Given the description of an element on the screen output the (x, y) to click on. 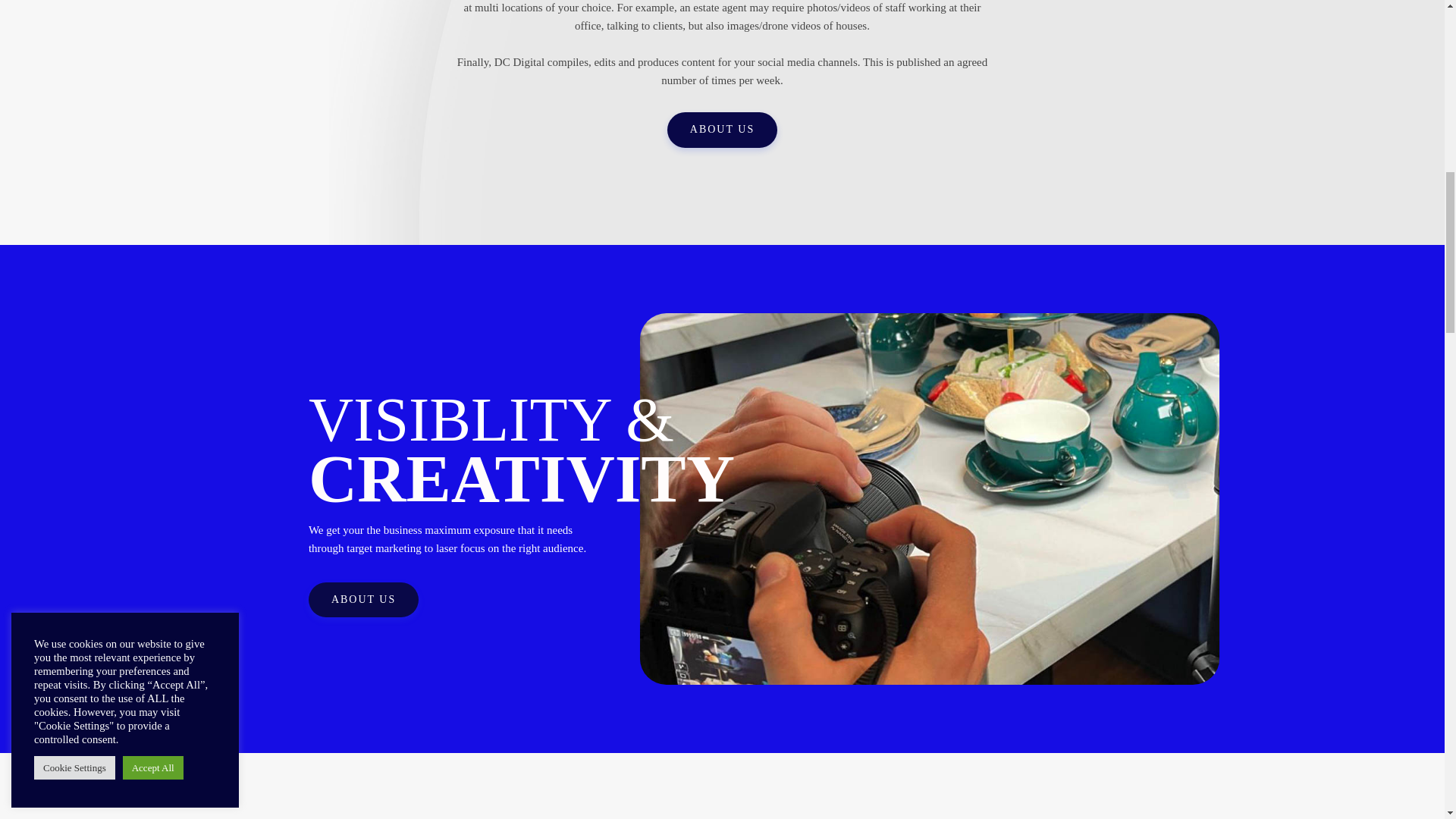
ABOUT US (721, 130)
ABOUT US (363, 600)
